Given the description of an element on the screen output the (x, y) to click on. 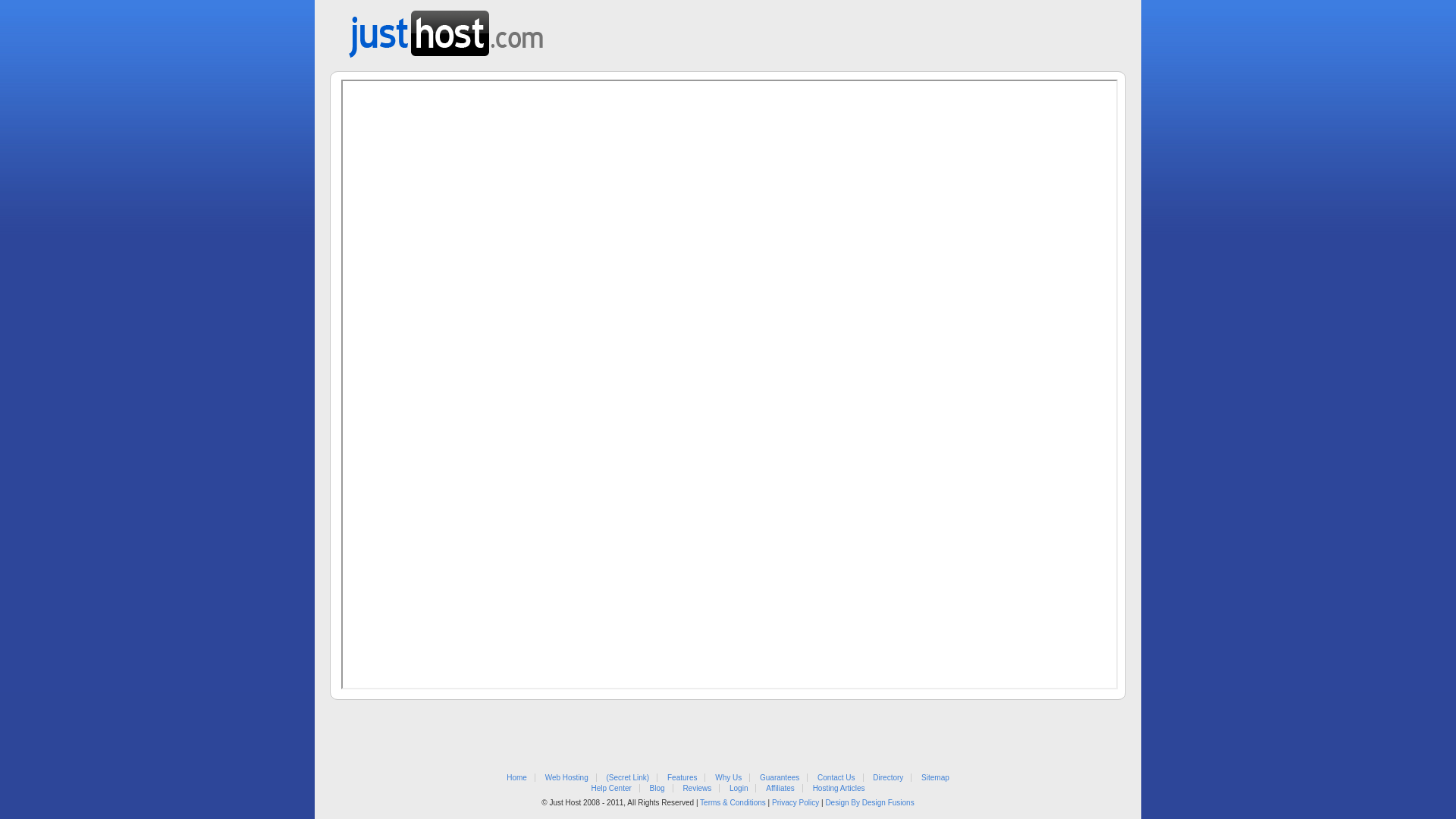
Affiliates Element type: text (779, 788)
Hosting Articles Element type: text (838, 788)
Web Hosting from Just Host Element type: text (445, 28)
Login Element type: text (738, 788)
Sitemap Element type: text (935, 777)
Features Element type: text (681, 777)
Reviews Element type: text (696, 788)
Blog Element type: text (657, 788)
Directory Element type: text (887, 777)
(Secret Link) Element type: text (627, 777)
Home Element type: text (516, 777)
Help Center Element type: text (610, 788)
Contact Us Element type: text (835, 777)
Why Us Element type: text (728, 777)
Design By Design Fusions Element type: text (869, 802)
Web Hosting Element type: text (566, 777)
Privacy Policy Element type: text (795, 802)
Guarantees Element type: text (779, 777)
Terms & Conditions Element type: text (732, 802)
